Given the description of an element on the screen output the (x, y) to click on. 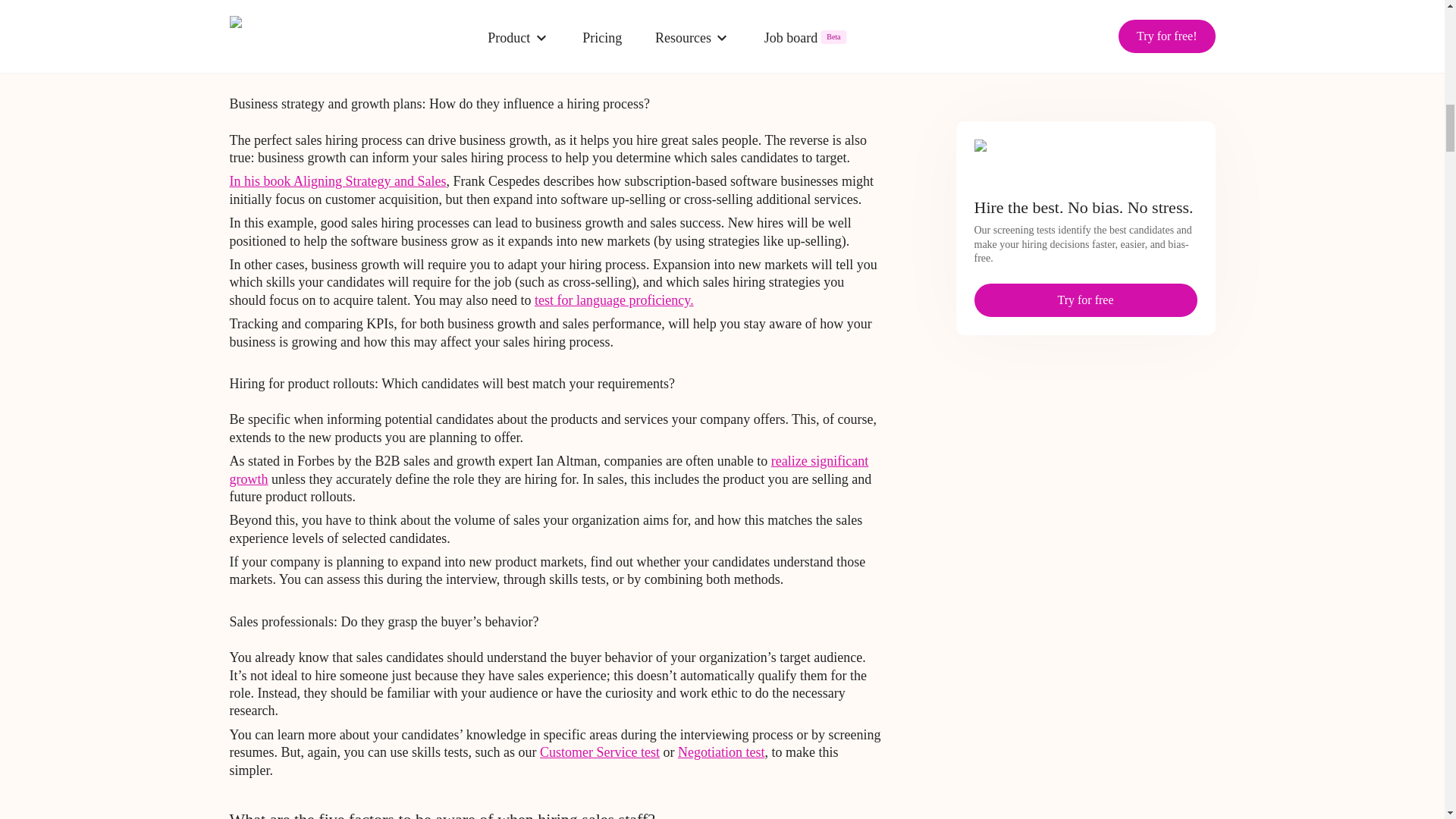
realize significant growth (547, 469)
In his book Aligning Strategy and Sales (336, 181)
test for language proficiency. (614, 299)
Customer Service test (599, 752)
